Given the description of an element on the screen output the (x, y) to click on. 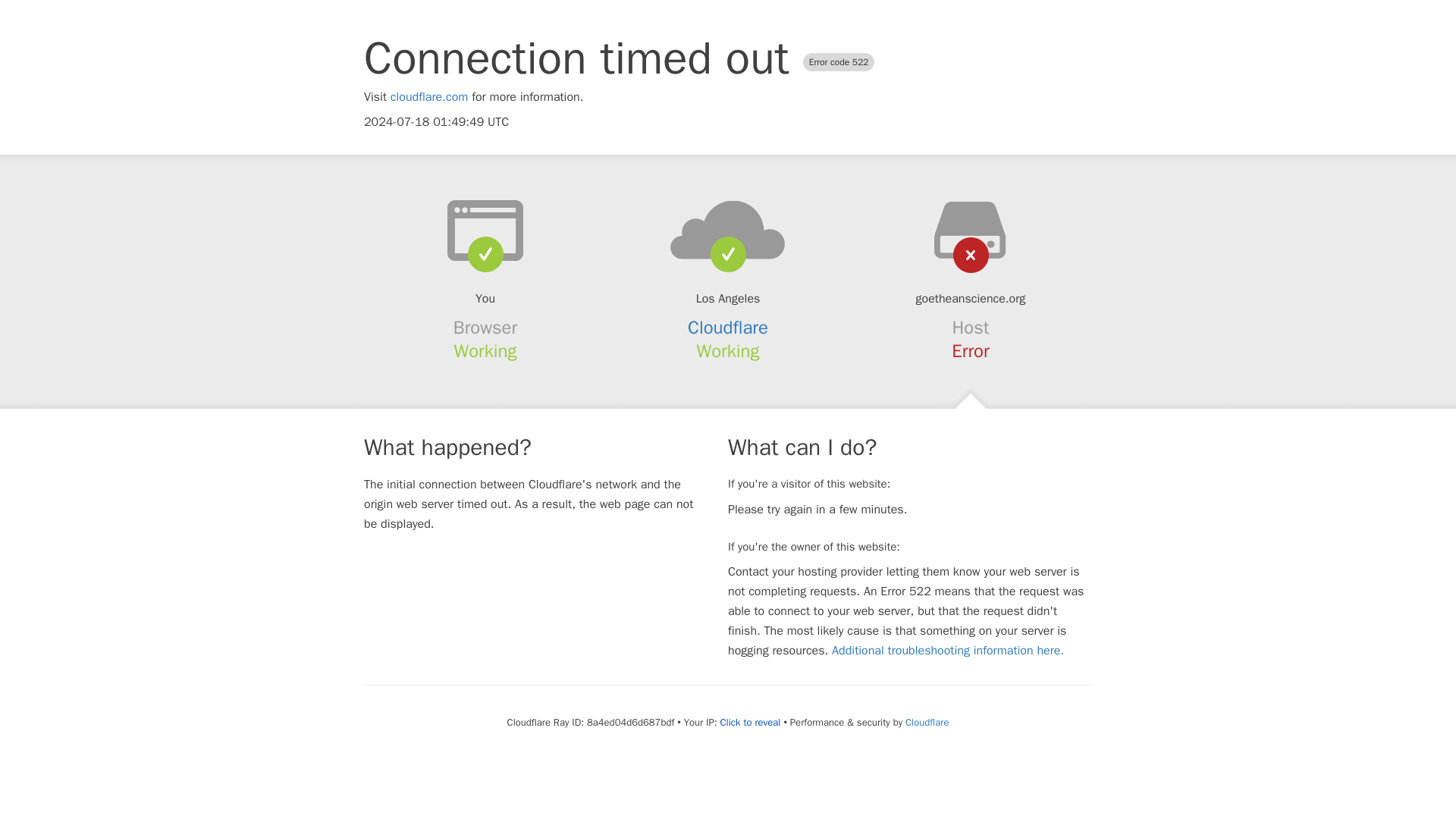
Additional troubleshooting information here. (947, 650)
cloudflare.com (429, 96)
Cloudflare (727, 327)
Click to reveal (750, 722)
Cloudflare (927, 721)
